Given the description of an element on the screen output the (x, y) to click on. 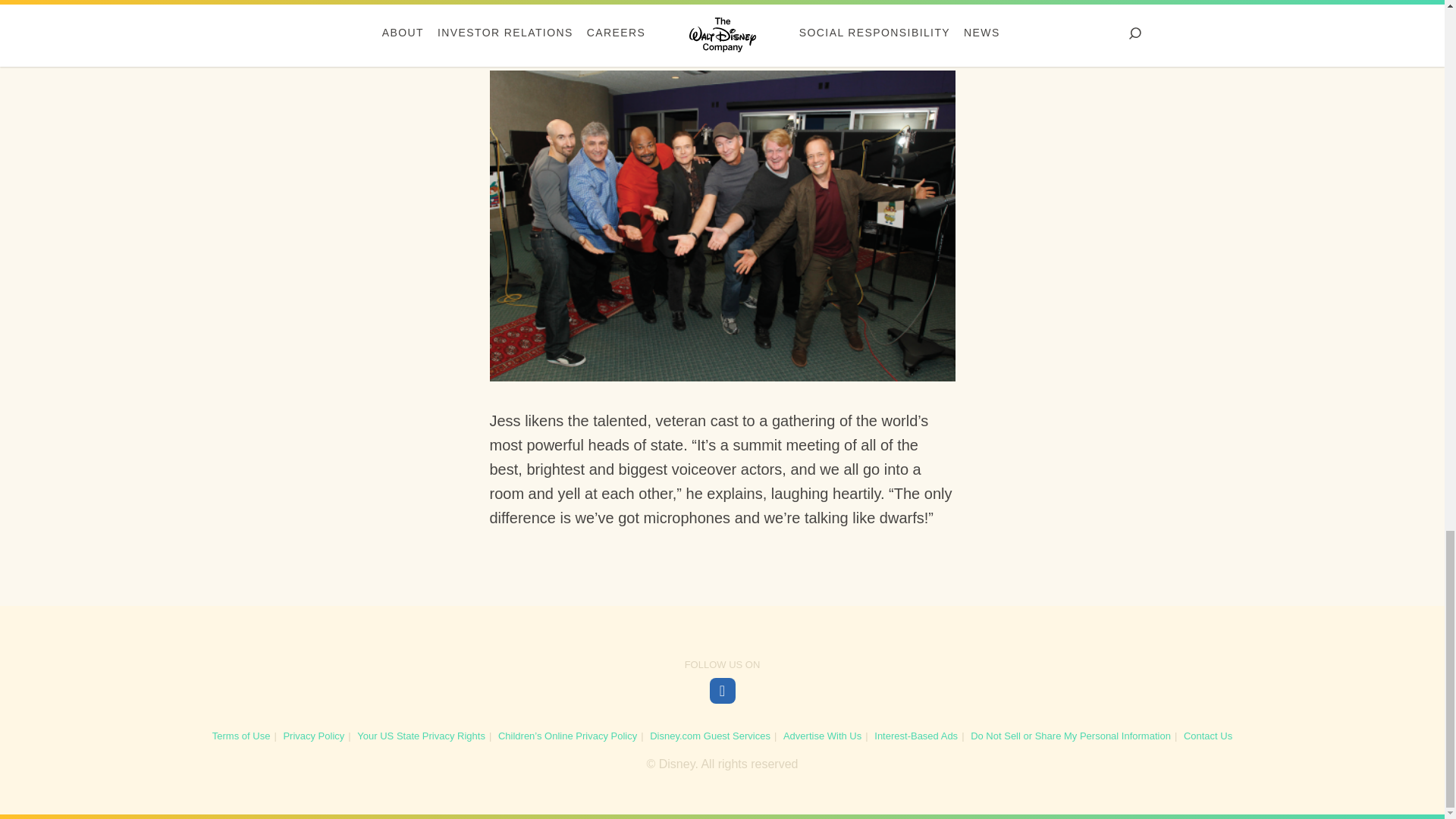
Privacy Policy (312, 736)
Facebook (722, 690)
Advertise With Us (822, 736)
Terms of Use (241, 736)
Do Not Sell or Share My Personal Information (1070, 736)
Interest-Based Ads (916, 736)
Your US State Privacy Rights (420, 736)
Disney.com Guest Services (709, 736)
Contact Us (1207, 736)
